Given the description of an element on the screen output the (x, y) to click on. 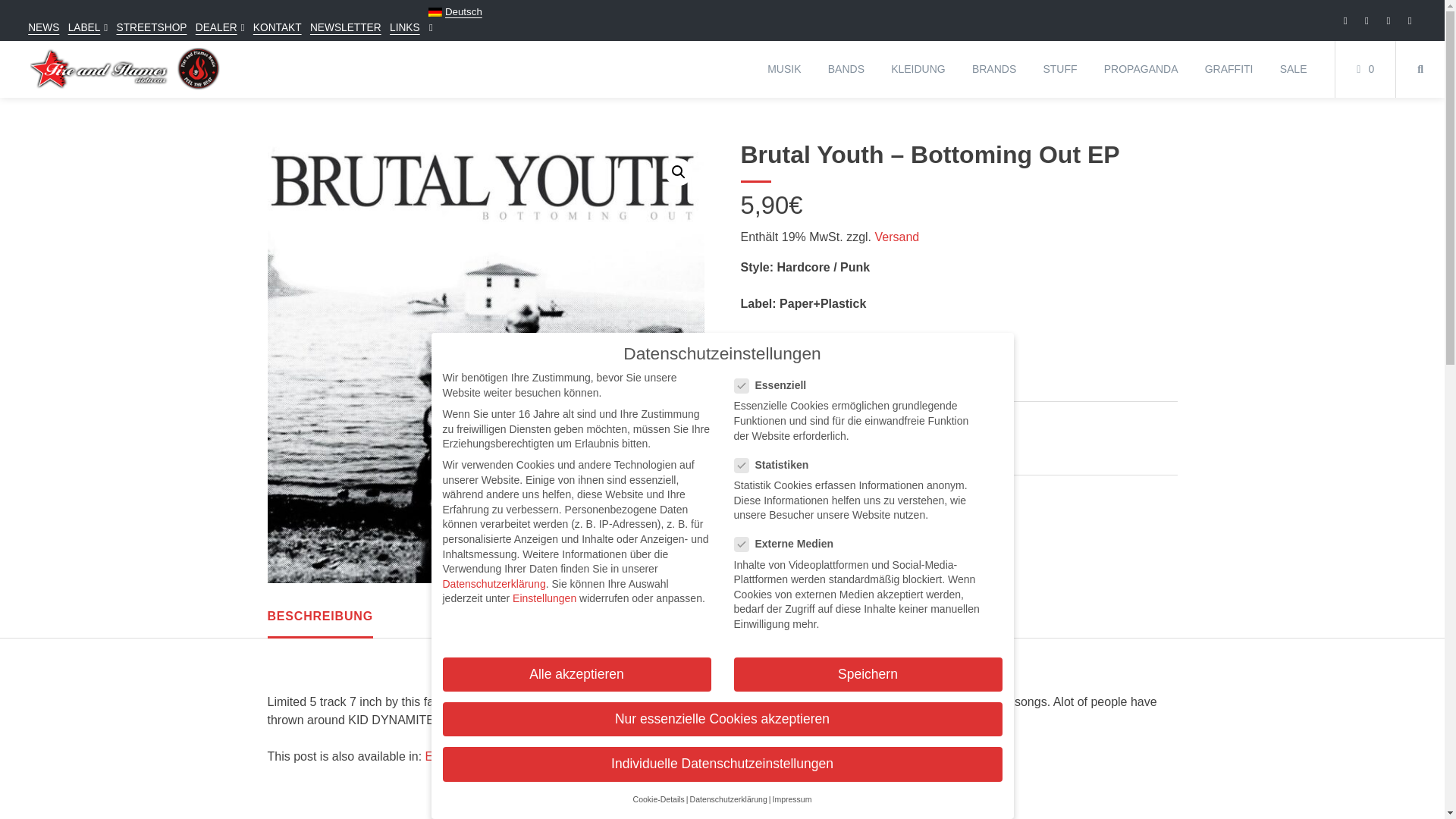
LABEL (84, 27)
Deutsch (454, 11)
STREETSHOP (151, 27)
NEWSLETTER (345, 27)
LINKS (405, 27)
Deutsch (454, 11)
Bei Twitter teilen (895, 498)
Fire and Flames Music and Clothing (124, 68)
DEALER (216, 27)
NEWS (43, 27)
